Given the description of an element on the screen output the (x, y) to click on. 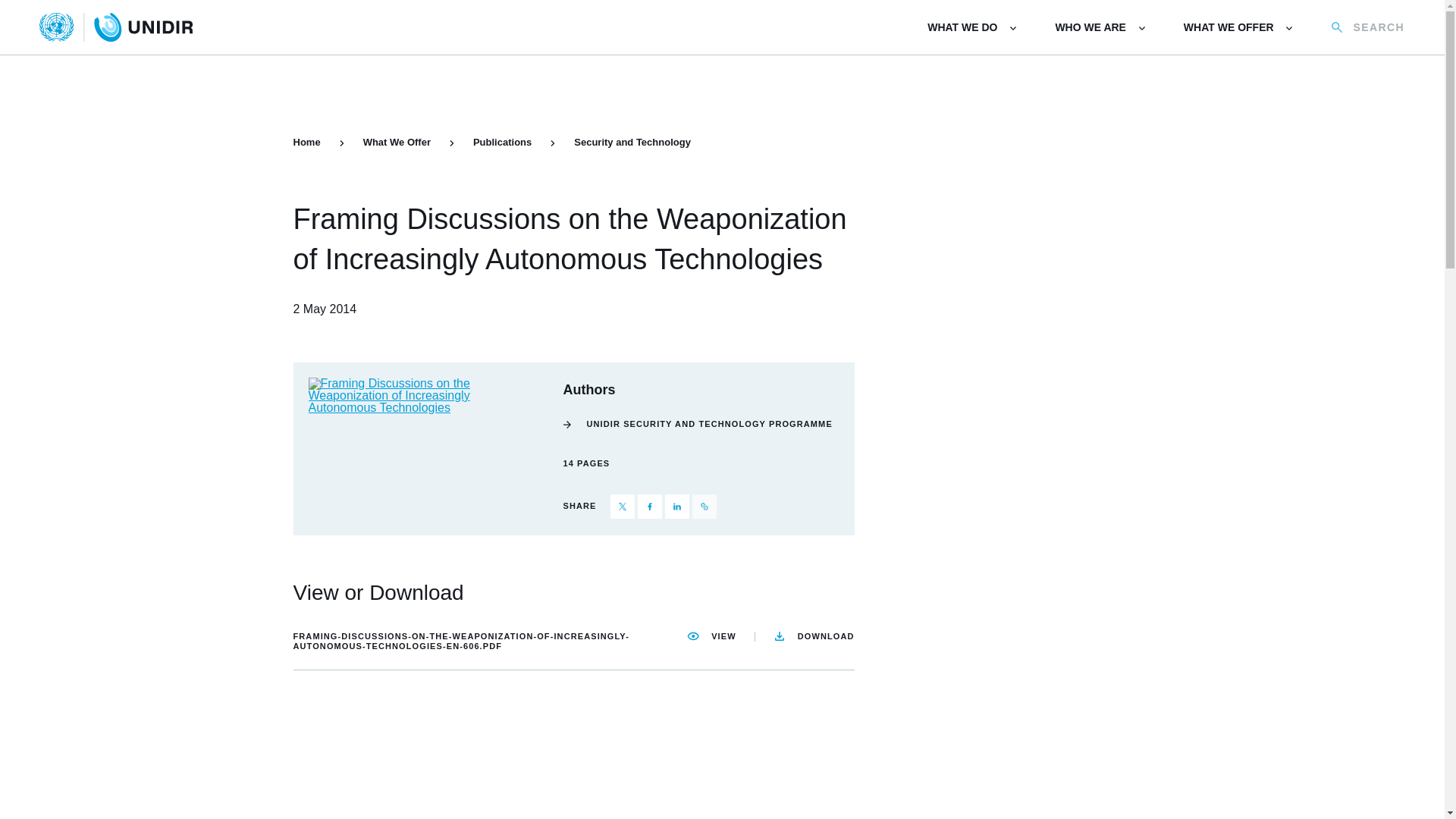
Share on X (622, 506)
UNIDIR (116, 27)
Share on Linkedin (676, 506)
Share on Facebook (649, 506)
